Given the description of an element on the screen output the (x, y) to click on. 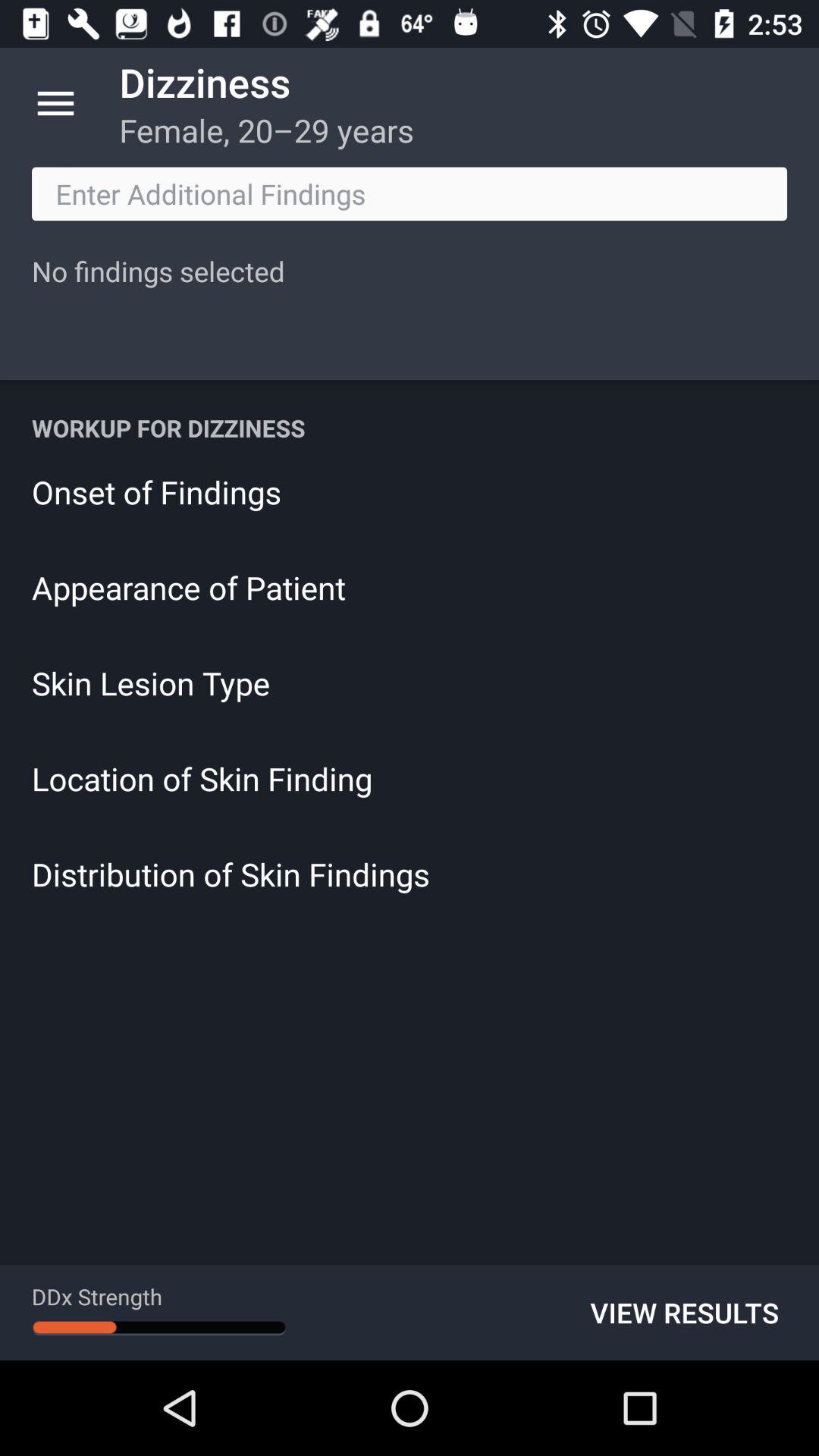
select item to the right of the ddx strength item (684, 1312)
